Given the description of an element on the screen output the (x, y) to click on. 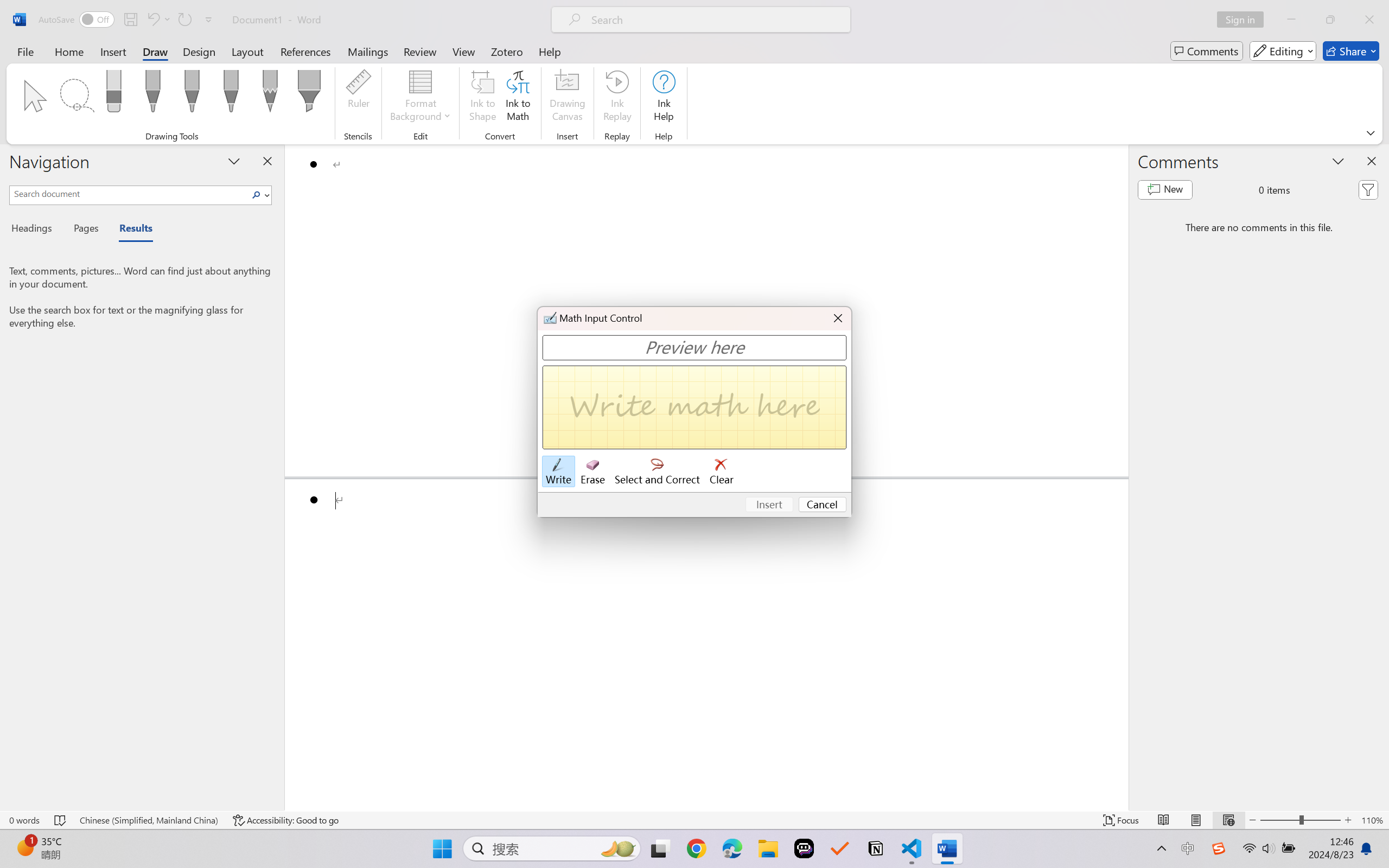
Microsoft Edge (731, 848)
Select and Correct (657, 471)
Erase (592, 471)
